Given the description of an element on the screen output the (x, y) to click on. 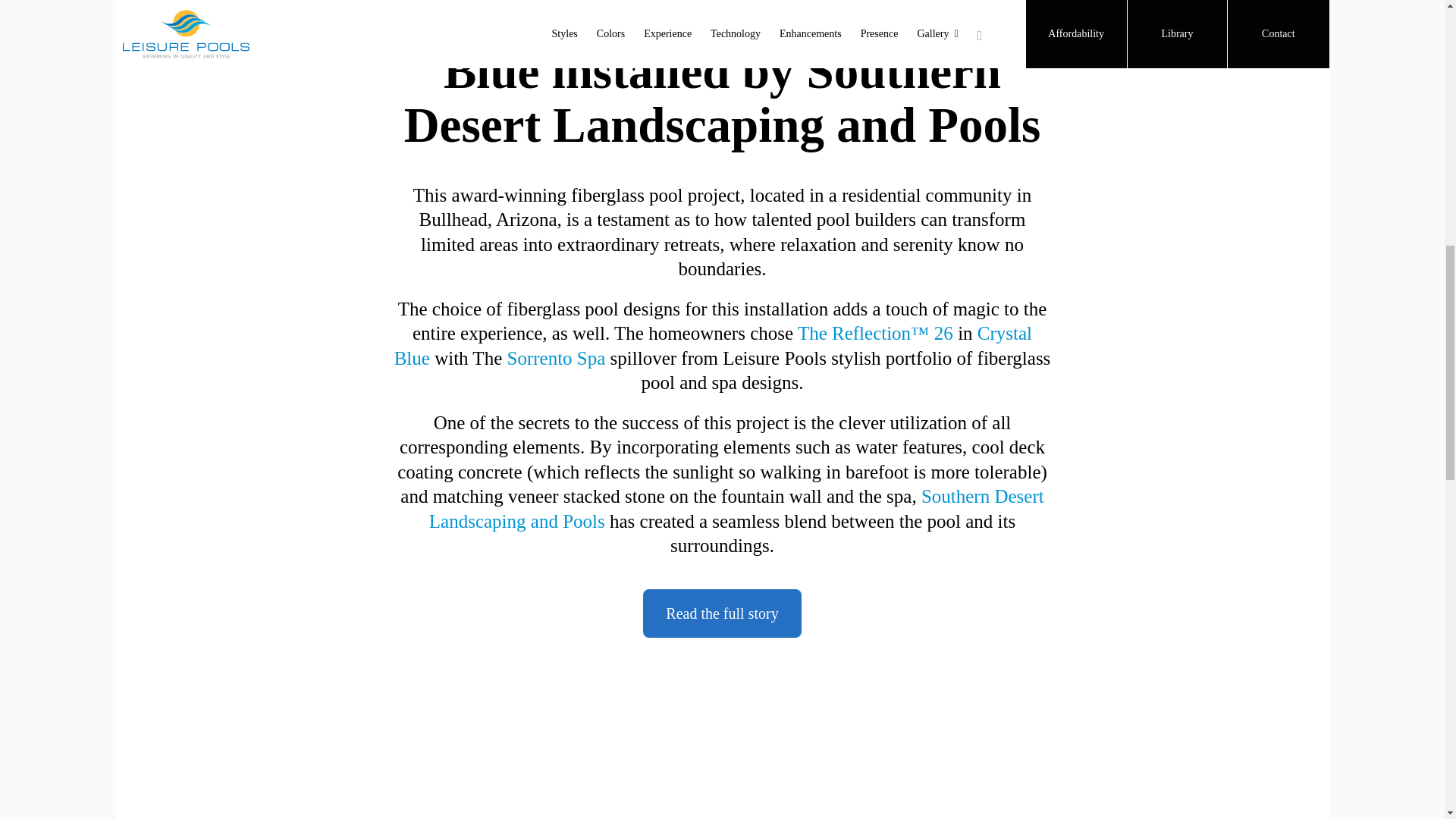
Sorrento Spa (555, 358)
Southern Desert Landscaping and Pools (736, 508)
Crystal Blue (713, 345)
